Given the description of an element on the screen output the (x, y) to click on. 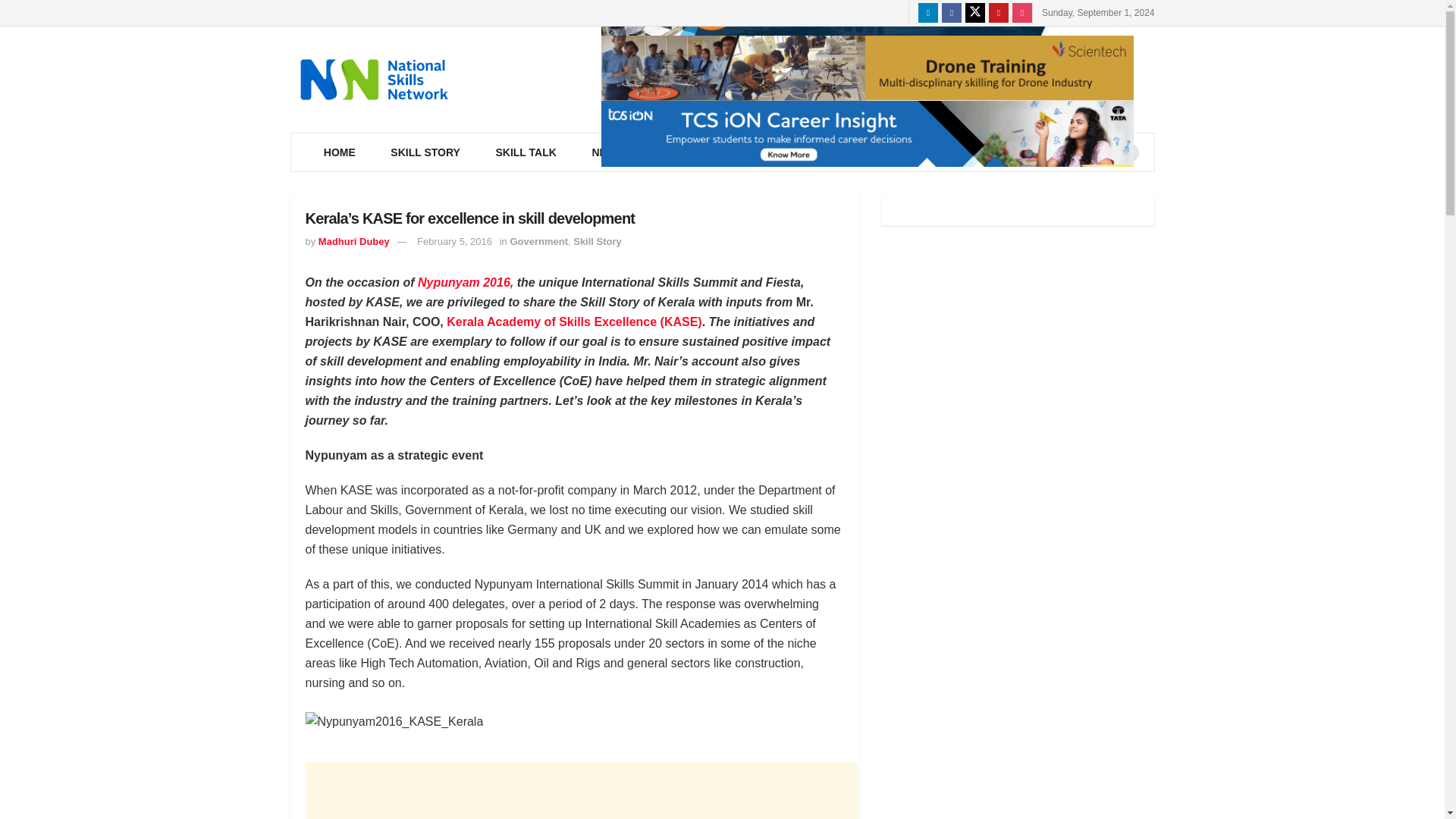
HOME (339, 152)
SKILL TALK (525, 152)
ABOUT US (908, 152)
SUCCESS STORIES (1024, 152)
NEWS (609, 152)
RESOURCES (700, 152)
SKILL STORY (424, 152)
Drone PNG (865, 68)
SKILL2JOBS (807, 152)
